Given the description of an element on the screen output the (x, y) to click on. 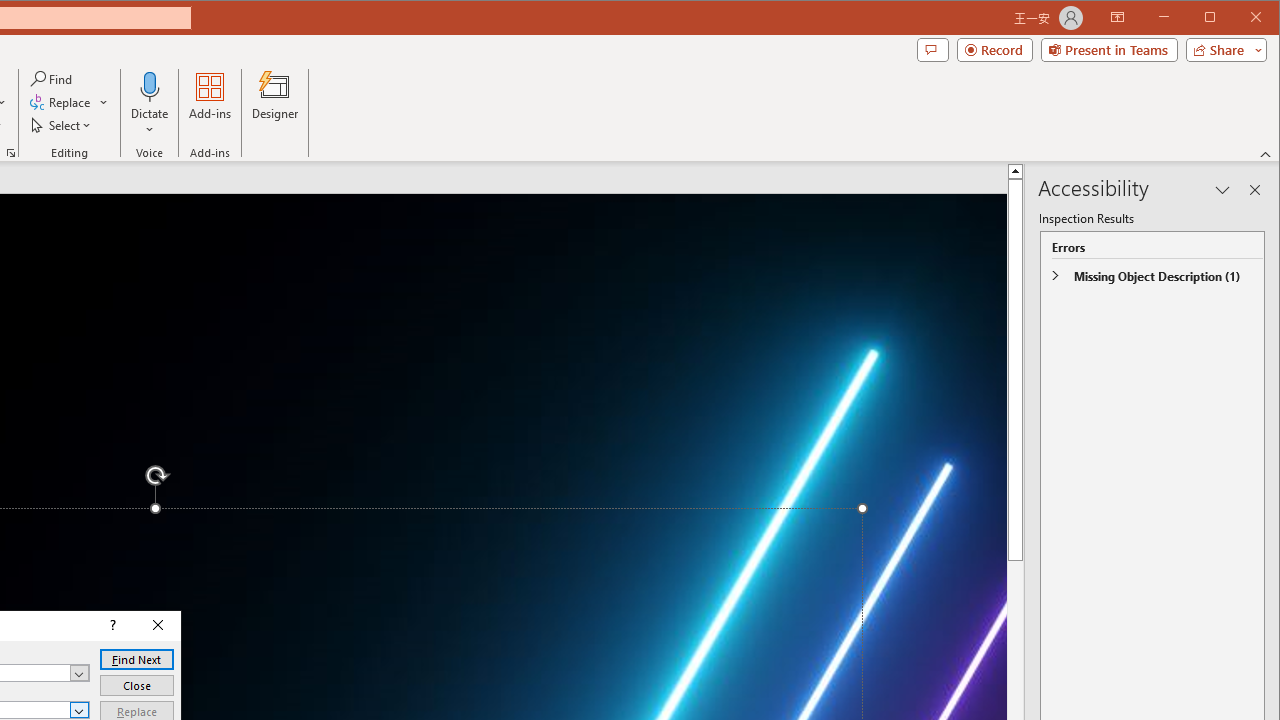
Context help (111, 625)
Find Next (136, 659)
